Given the description of an element on the screen output the (x, y) to click on. 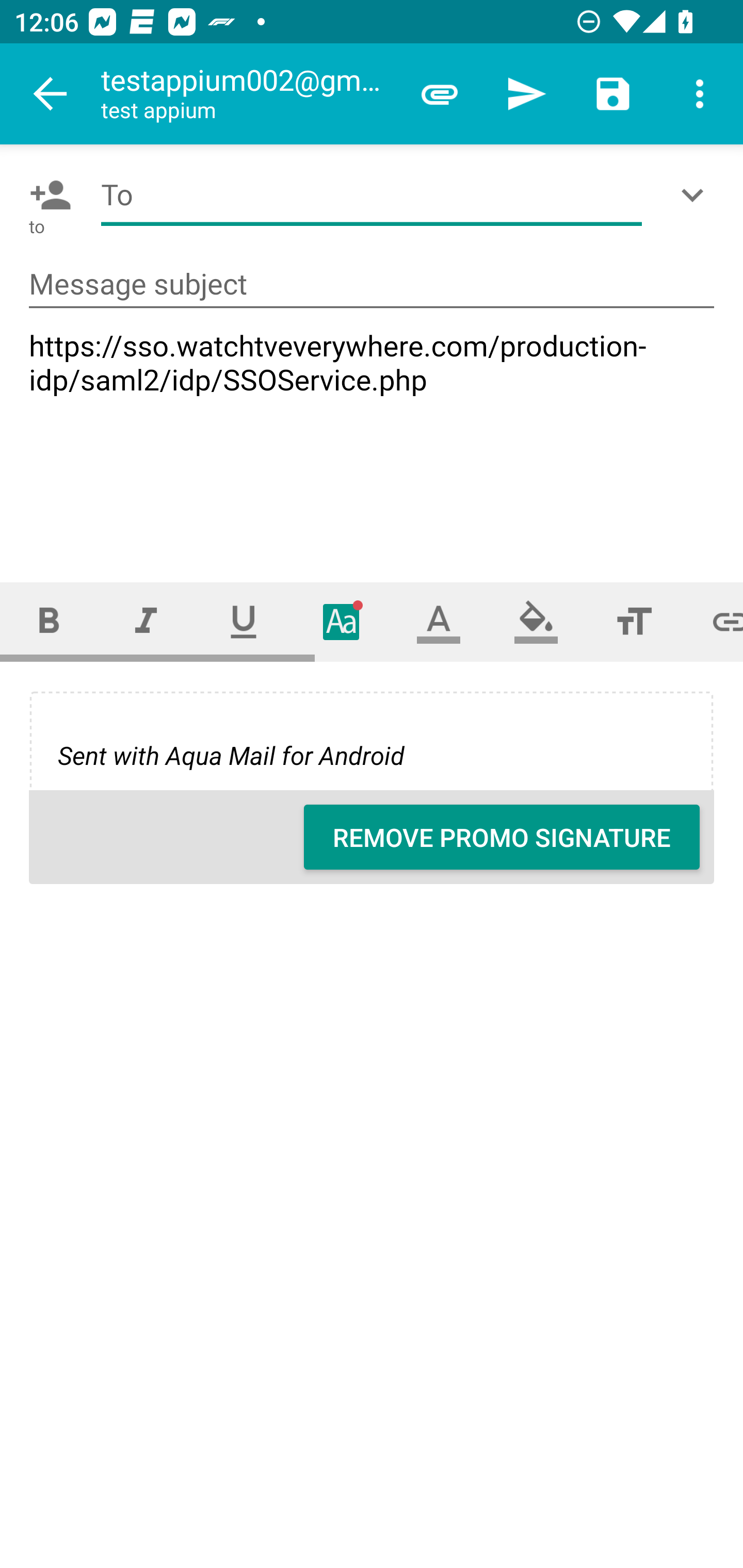
Navigate up (50, 93)
testappium002@gmail.com test appium (248, 93)
Attach (439, 93)
Send (525, 93)
Save (612, 93)
More options (699, 93)
Pick contact: To (46, 195)
Show/Add CC/BCC (696, 195)
To (371, 195)
Message subject (371, 284)
Bold (48, 621)
Italic (145, 621)
Underline (243, 621)
Typeface (font) (341, 621)
Text color (438, 621)
Fill color (536, 621)
Font size (633, 621)
Set link (712, 621)
REMOVE PROMO SIGNATURE (501, 837)
